Given the description of an element on the screen output the (x, y) to click on. 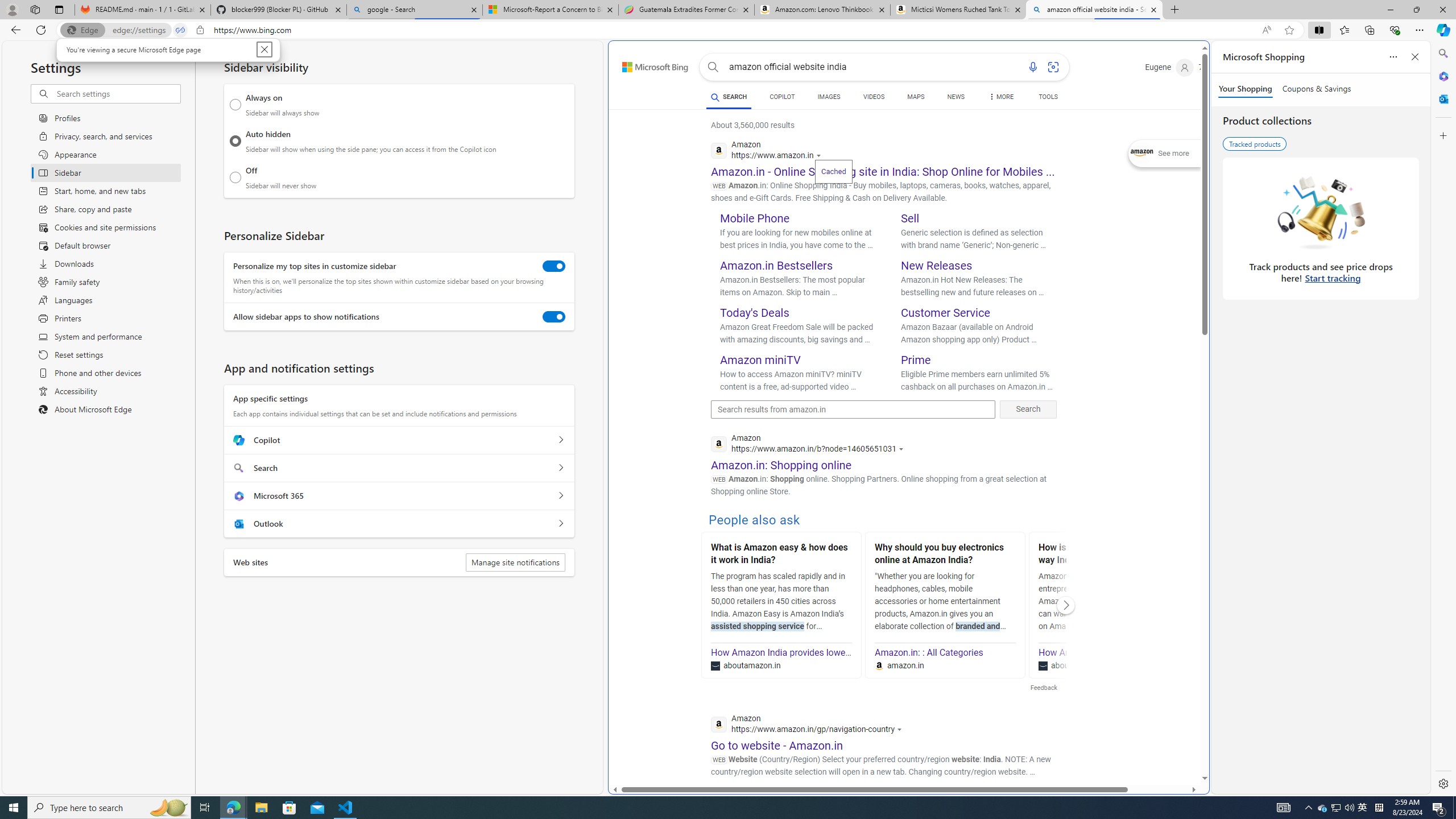
Eugene (1168, 67)
MORE (1000, 98)
Manage site notifications (514, 562)
Always on Sidebar will always show (235, 104)
Allow sidebar apps to show notifications (553, 316)
